Given the description of an element on the screen output the (x, y) to click on. 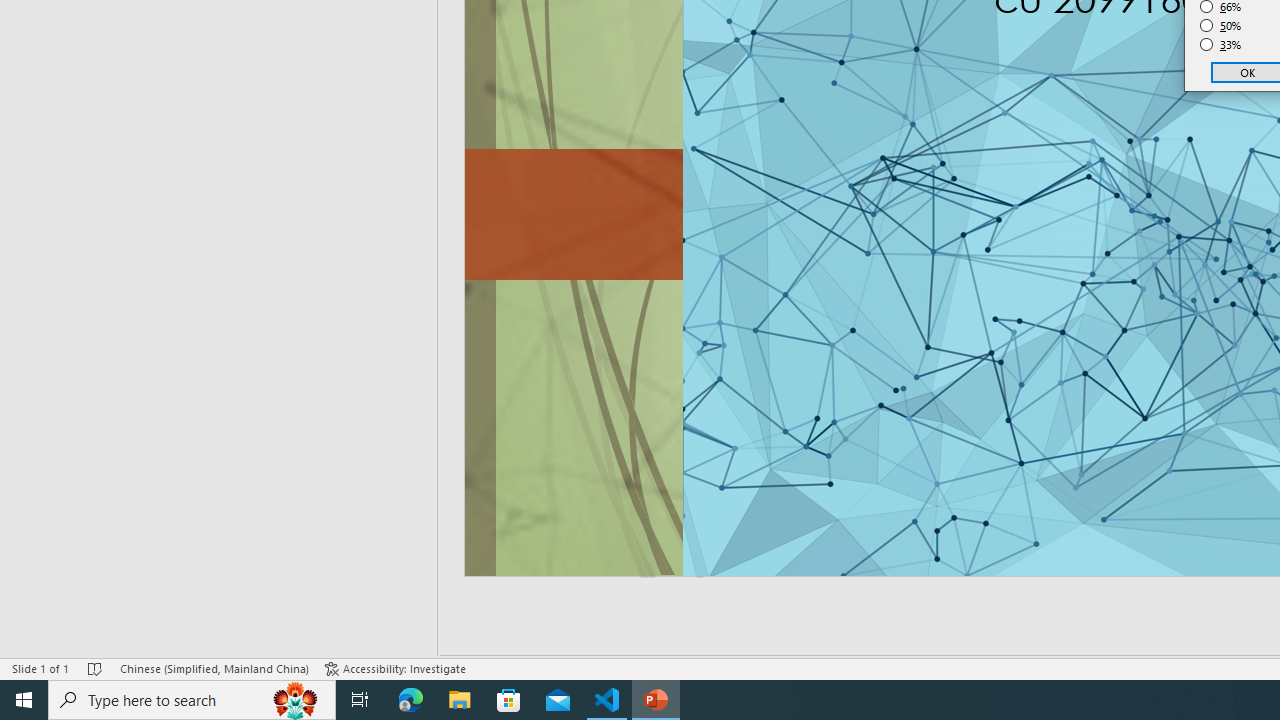
50% (1221, 25)
33% (1221, 44)
Microsoft Edge (411, 699)
